Given the description of an element on the screen output the (x, y) to click on. 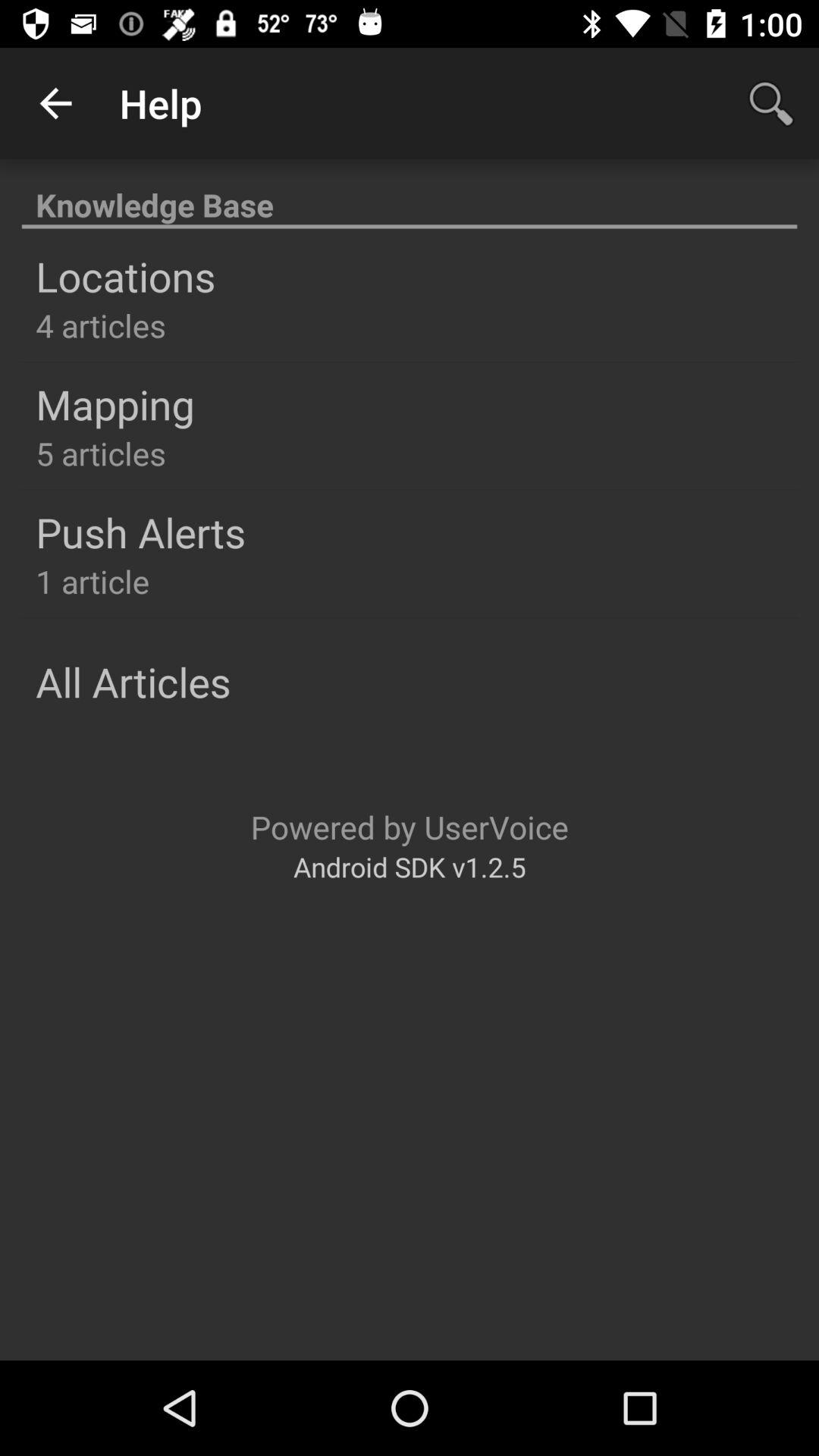
press push alerts (140, 531)
